Given the description of an element on the screen output the (x, y) to click on. 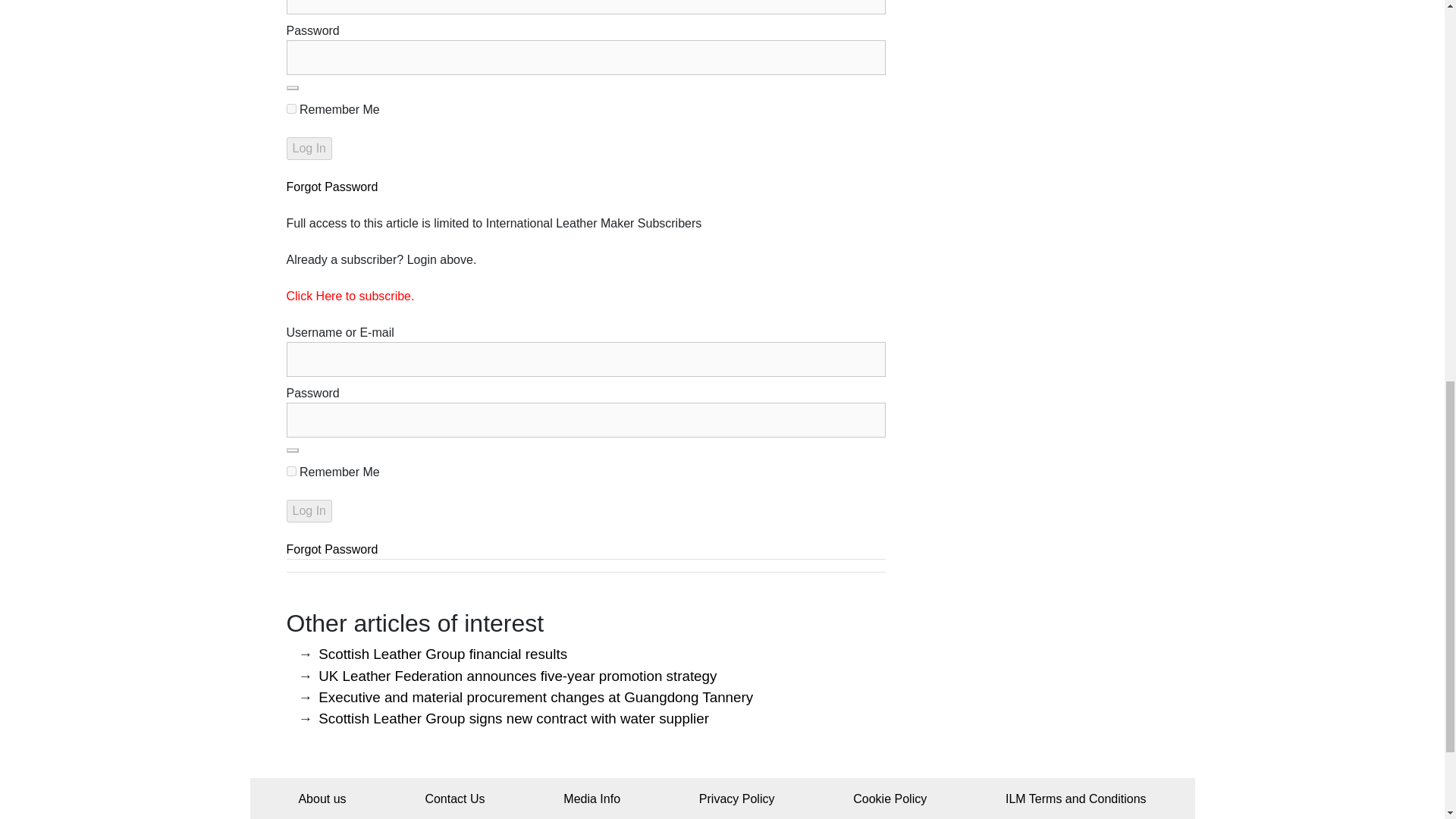
Contact Us (454, 798)
Log In (308, 148)
forever (291, 470)
Scottish Leather Group financial results (442, 653)
Log In (308, 510)
UK Leather Federation announces five-year promotion strategy (517, 675)
Forgot Password (332, 549)
About us (322, 798)
Log In (308, 148)
